Given the description of an element on the screen output the (x, y) to click on. 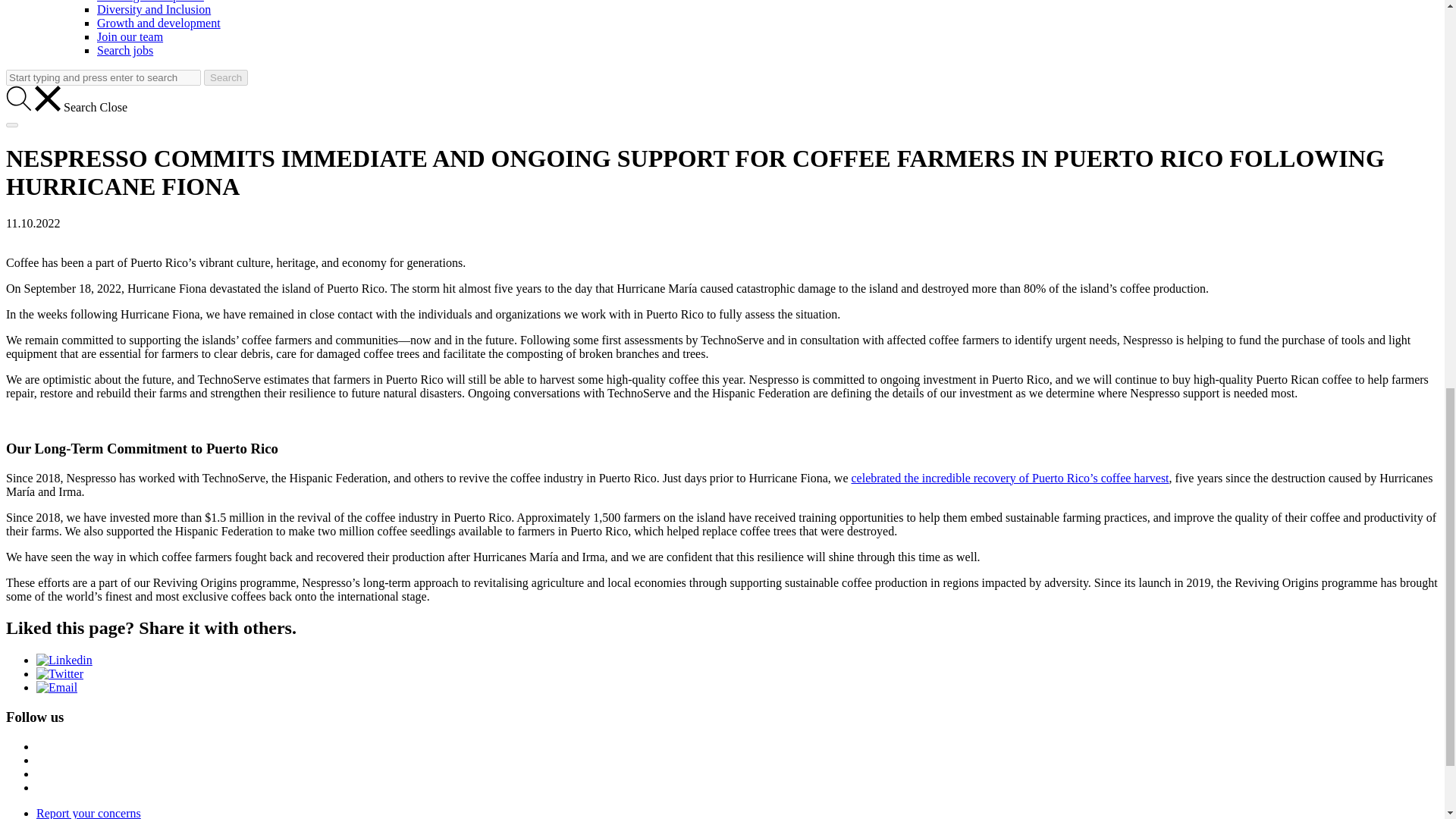
Twitter (59, 673)
Linkedin (64, 659)
Join our team (130, 36)
Working at Nespresso (150, 1)
Search (225, 77)
Search jobs (124, 50)
Diversity and Inclusion (154, 9)
Email (56, 686)
Growth and development (159, 22)
